Given the description of an element on the screen output the (x, y) to click on. 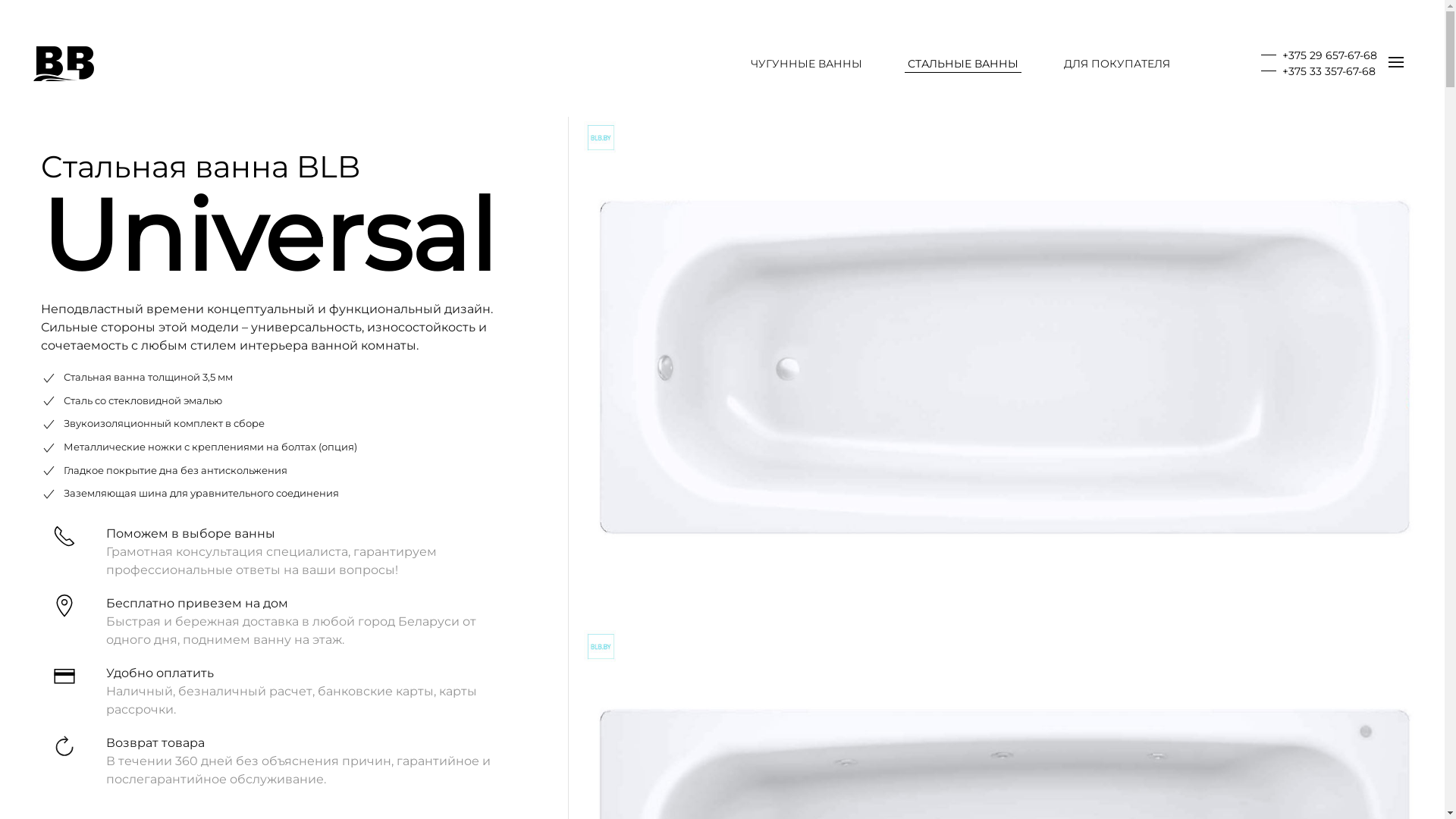
+375 33 357-67-68 Element type: text (1318, 71)
+375 29 657-67-68 Element type: text (1319, 55)
